Given the description of an element on the screen output the (x, y) to click on. 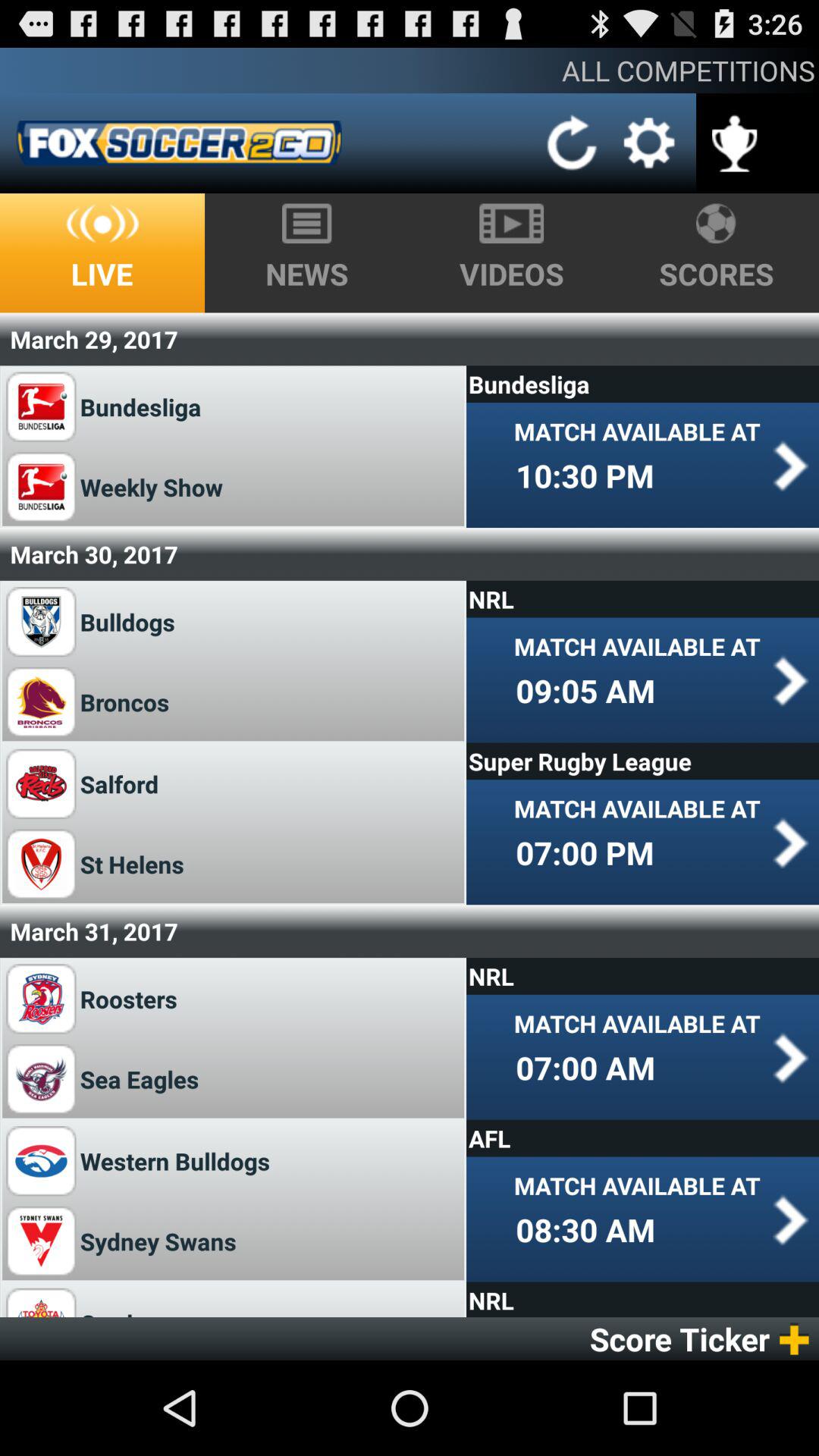
click the sea eagles   item (145, 1079)
